Given the description of an element on the screen output the (x, y) to click on. 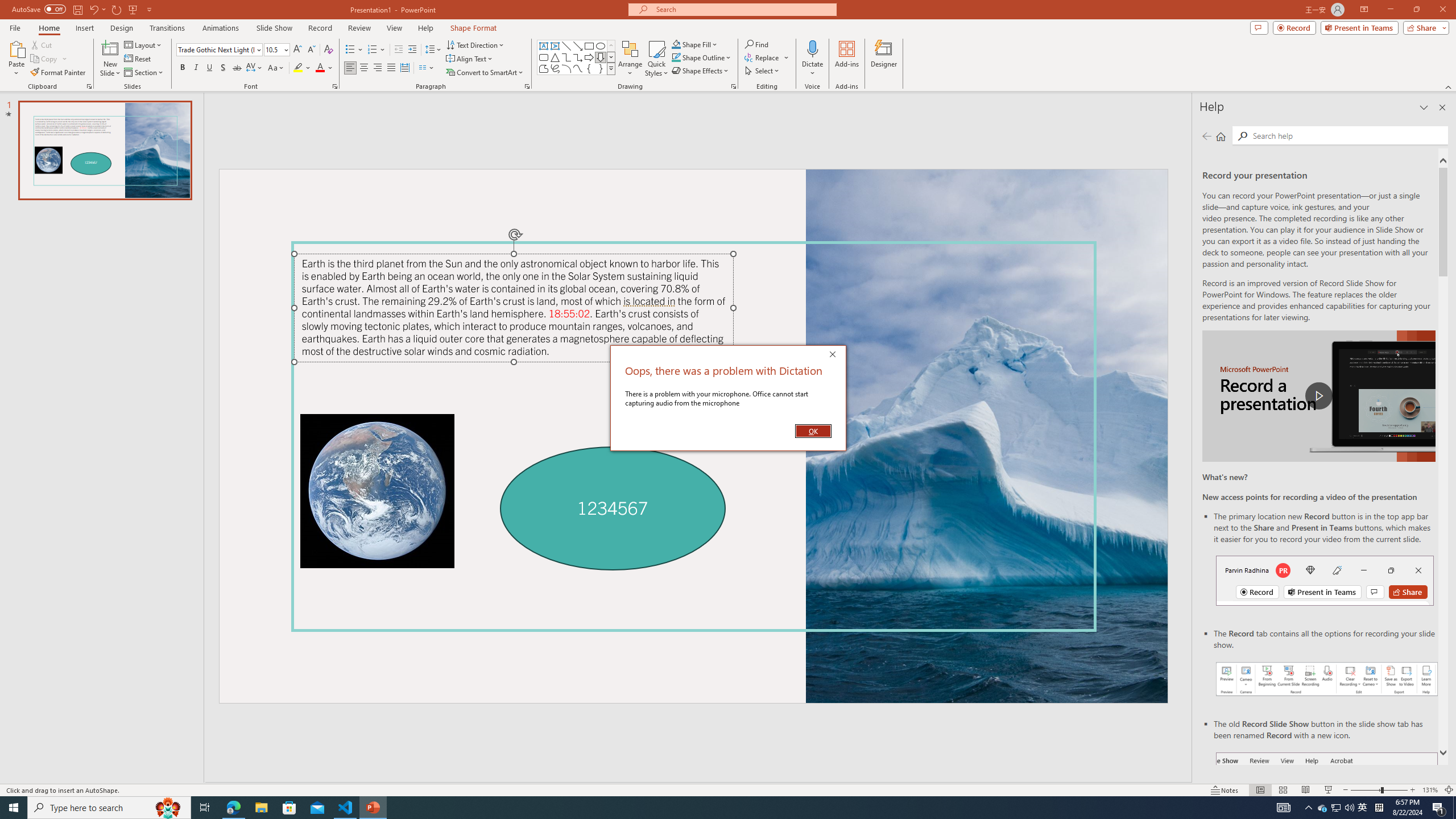
Record your presentations screenshot one (1322, 807)
Shape Fill Aqua, Accent 2 (1326, 678)
Shape Outline Teal, Accent 1 (675, 44)
